Given the description of an element on the screen output the (x, y) to click on. 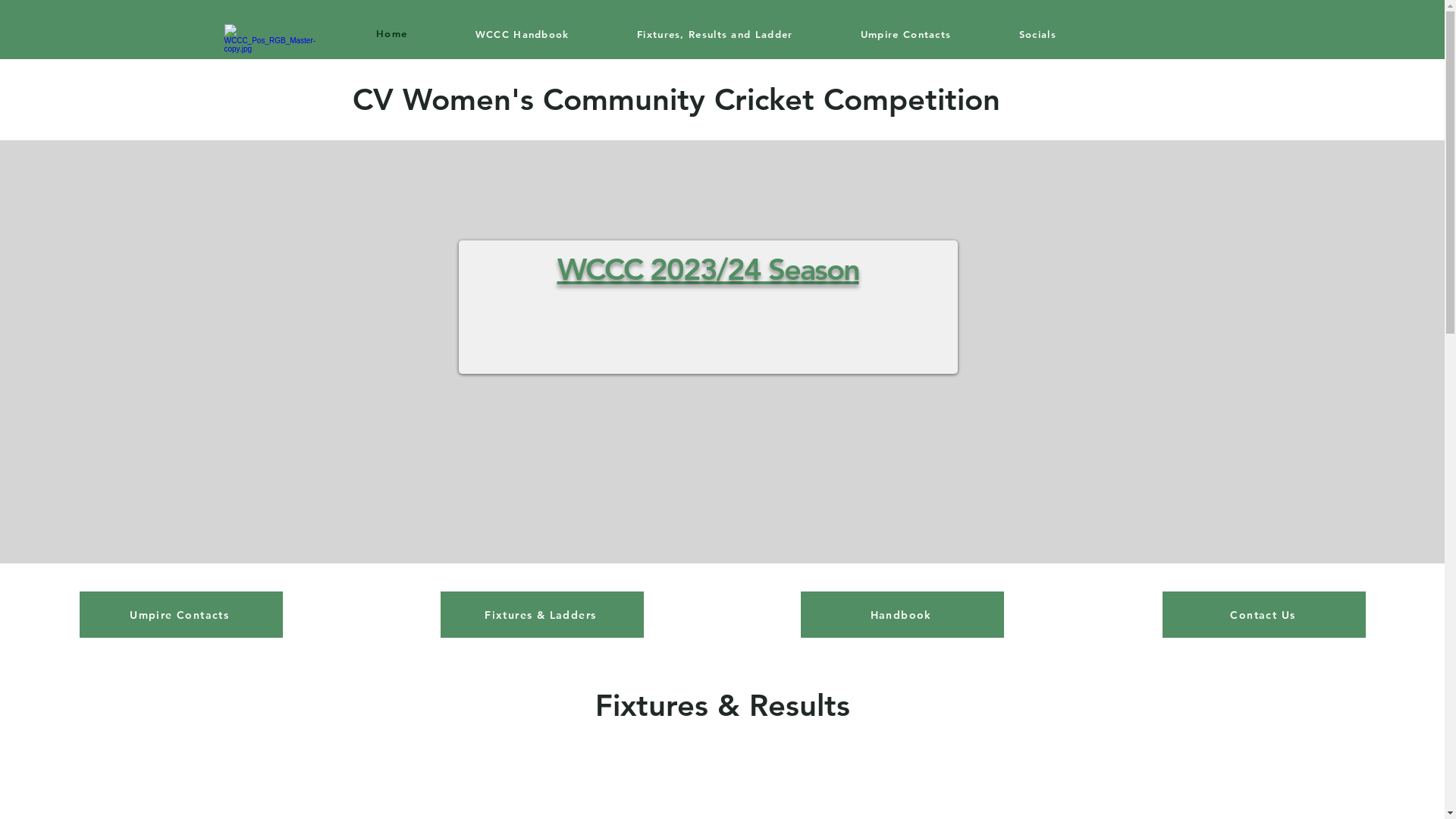
WCCC Handbook Element type: text (521, 33)
Umpire Contacts Element type: text (180, 614)
download.jpg Element type: hover (270, 76)
Handbook Element type: text (902, 614)
Socials Element type: text (1037, 33)
Umpire Contacts Element type: text (905, 33)
Fixtures & Ladders Element type: text (541, 614)
Home Element type: text (391, 33)
Fixtures, Results and Ladder Element type: text (714, 33)
Contact Us Element type: text (1263, 614)
